Given the description of an element on the screen output the (x, y) to click on. 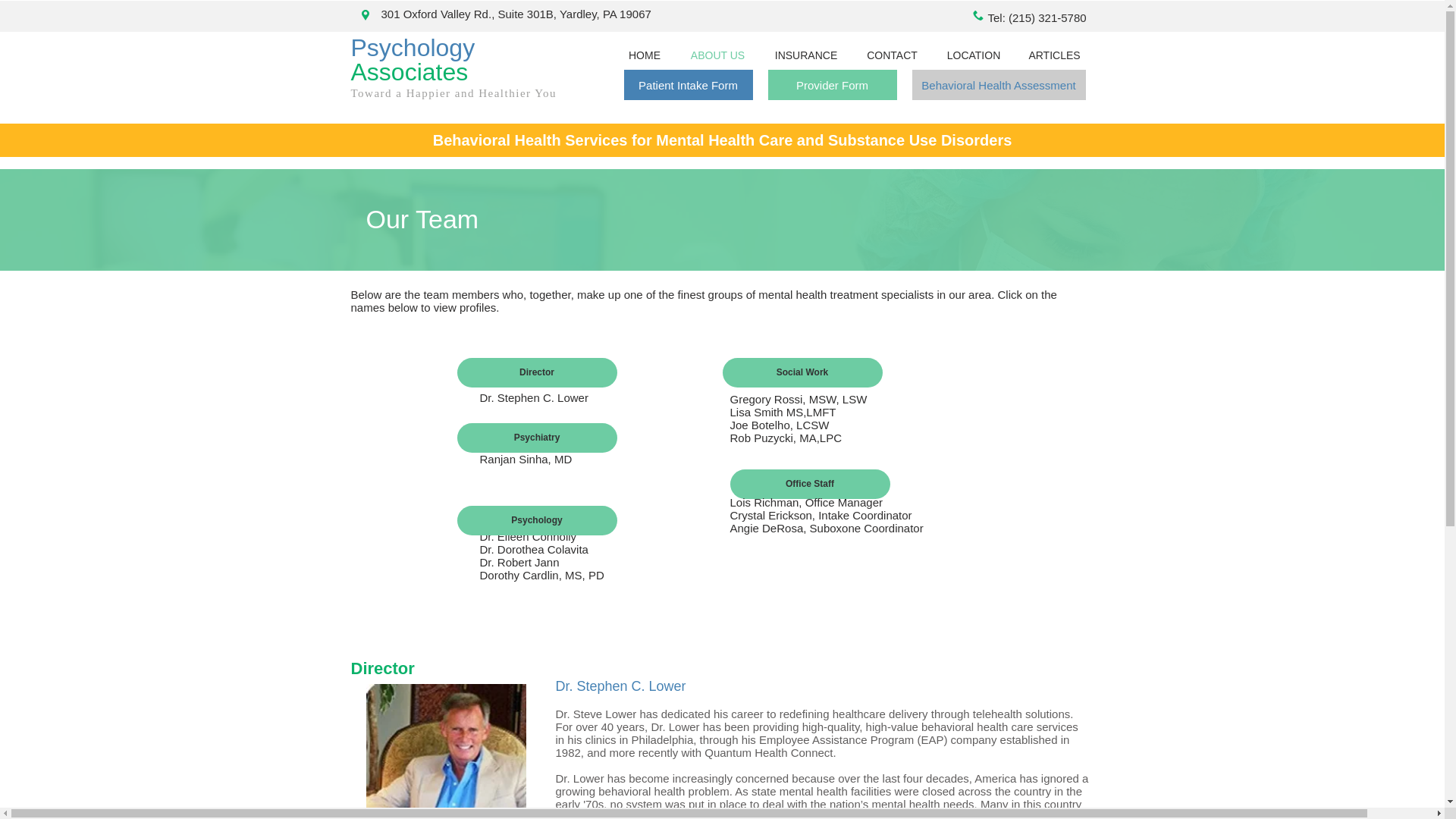
Dorothy Cardlin, MS, PD (541, 574)
Social Work (802, 372)
Behavioral Health Assessment (997, 84)
Dr. Stephen C. Lower (533, 397)
Office Staff (809, 483)
Psychology (536, 520)
Lisa Smith MS,LMFT (782, 411)
HOME (644, 55)
ABOUT US (717, 55)
Psychology  (415, 47)
Dr. Robert Jann (519, 562)
Rob Puzycki, MA,LPC (785, 437)
Patient Intake Form (687, 84)
Director (536, 372)
